Given the description of an element on the screen output the (x, y) to click on. 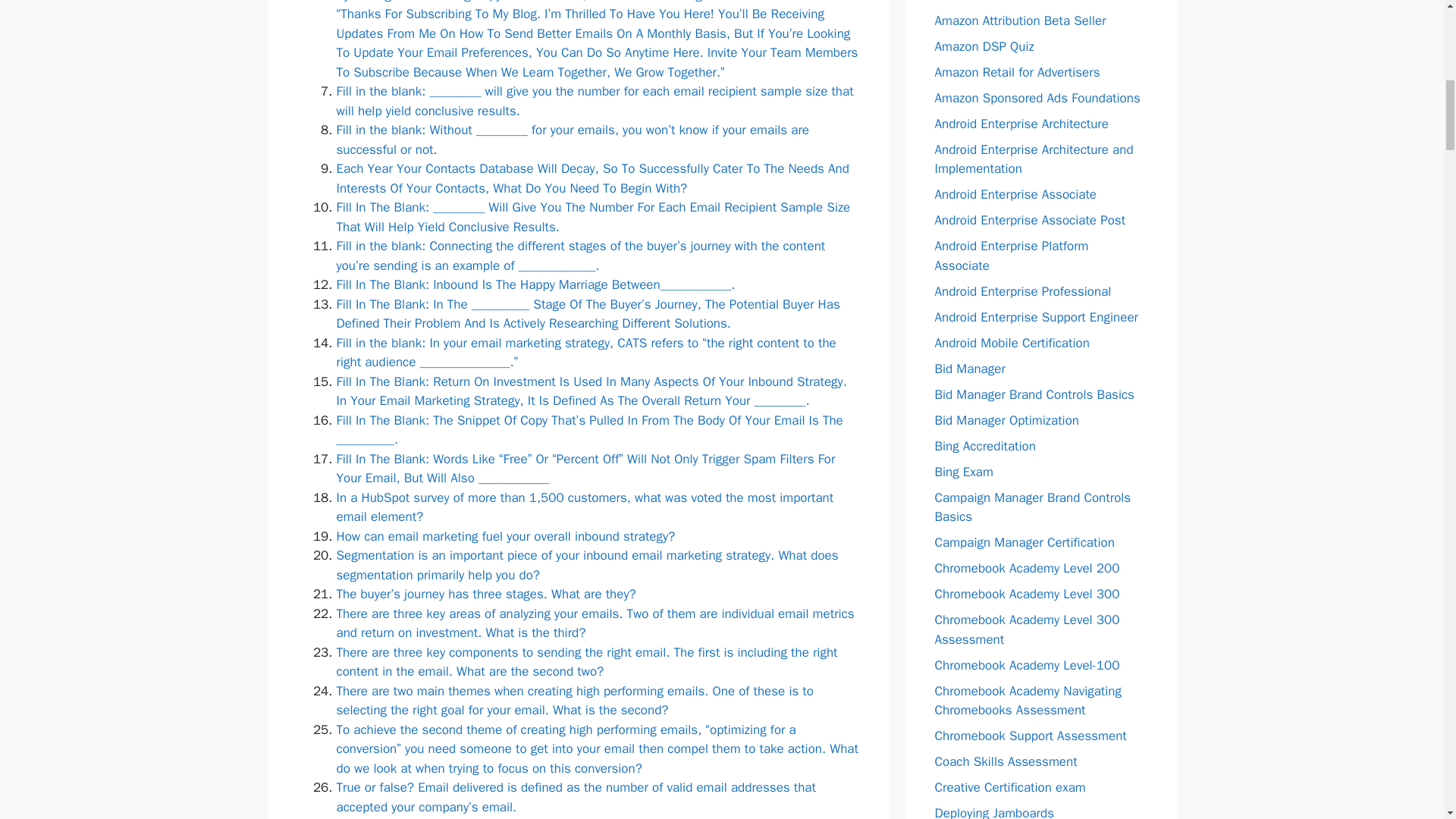
How can email marketing fuel your overall inbound strategy? (505, 536)
